Given the description of an element on the screen output the (x, y) to click on. 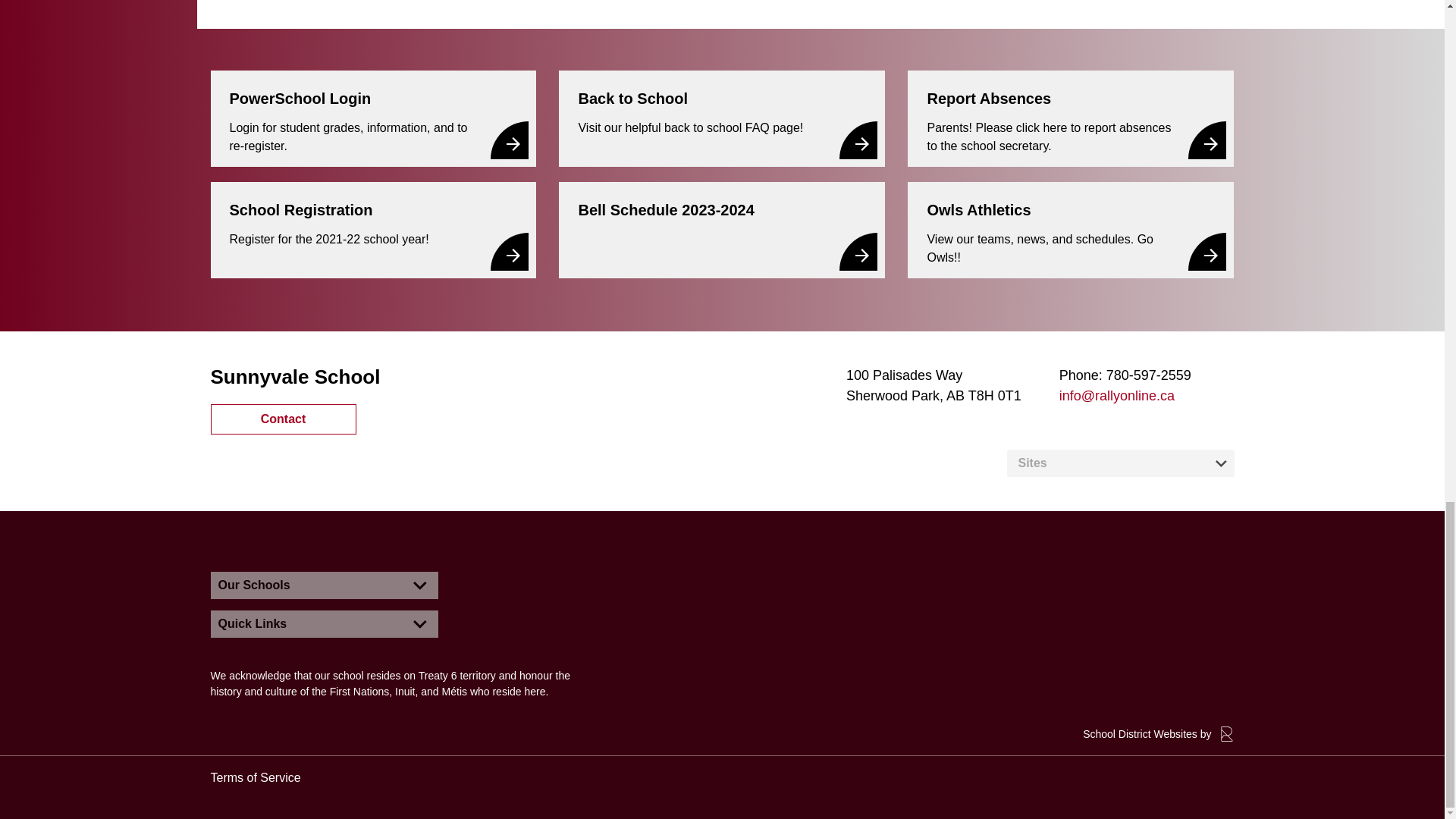
PowerSchool Login (374, 118)
Back to School (722, 118)
Report Absences (1070, 118)
